Given the description of an element on the screen output the (x, y) to click on. 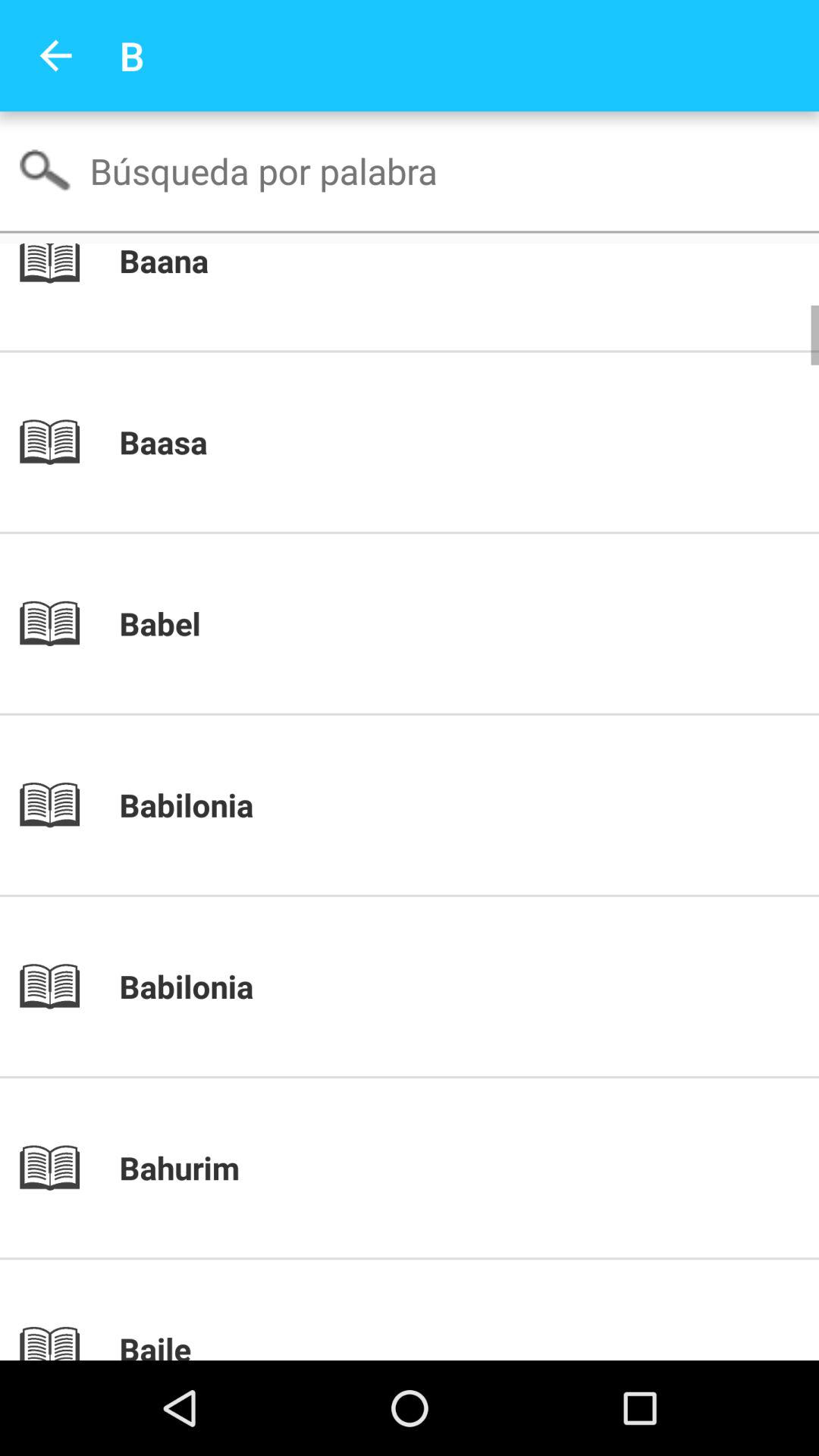
jump to the babel app (435, 623)
